Given the description of an element on the screen output the (x, y) to click on. 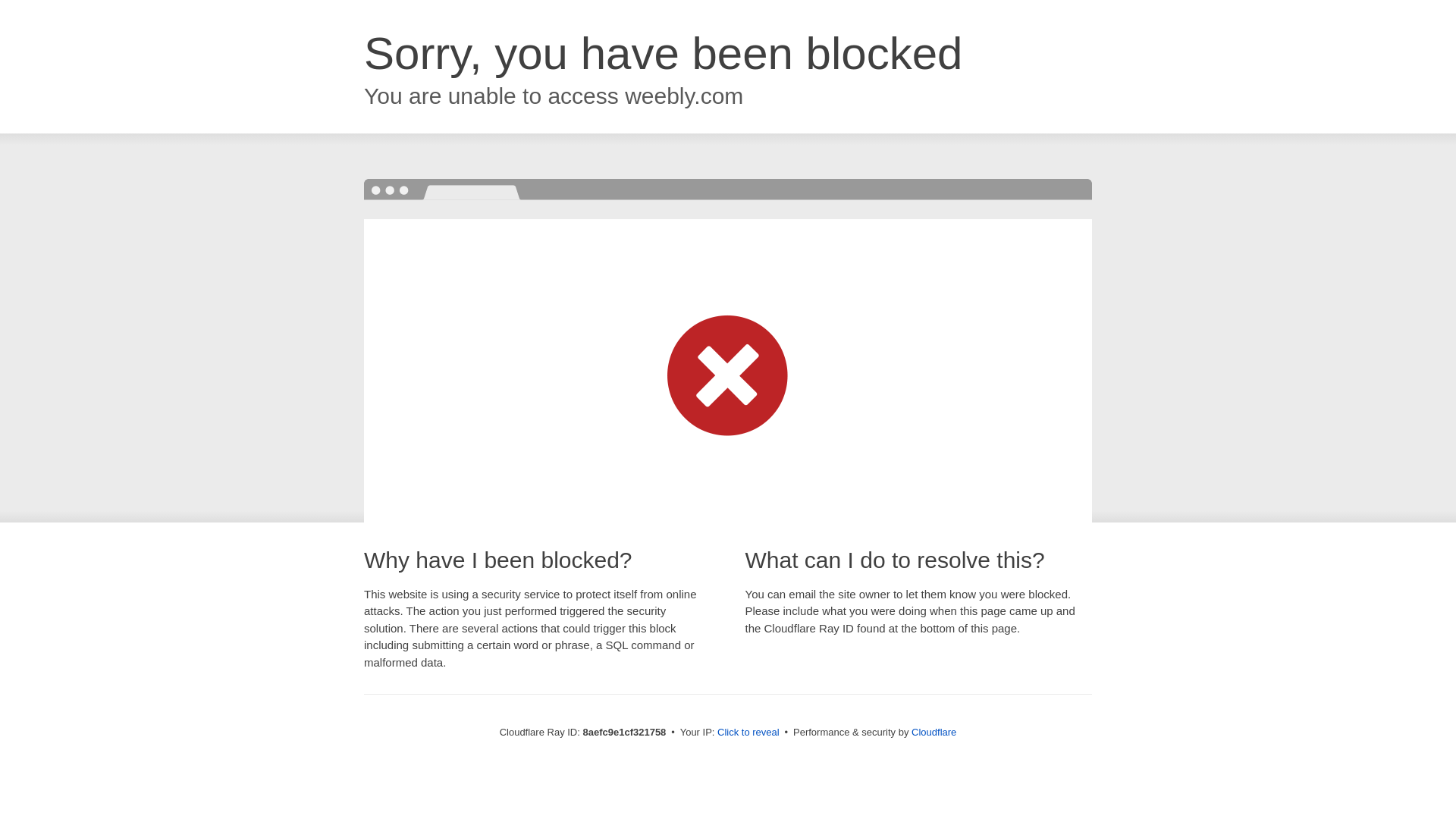
Cloudflare (933, 731)
Click to reveal (747, 732)
